Given the description of an element on the screen output the (x, y) to click on. 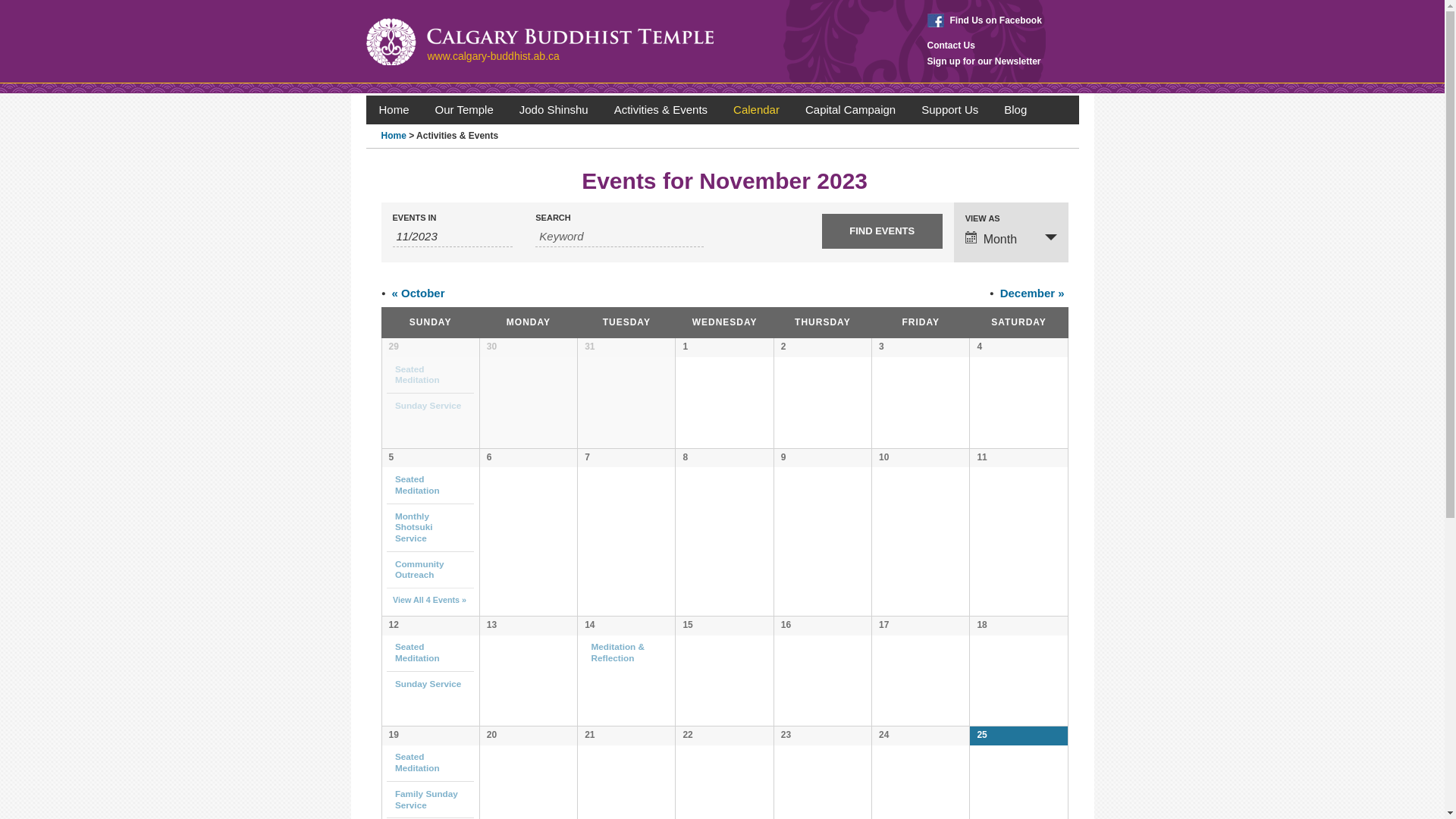
Seated Meditation Element type: text (417, 374)
5 Element type: text (390, 456)
Activities & Events Element type: text (660, 109)
Monthly Shotsuki Service Element type: text (414, 526)
Sign up for our Newsletter Element type: text (983, 61)
Home Element type: text (392, 135)
Calendar Element type: text (756, 109)
Meditation & Reflection Element type: text (618, 651)
14 Element type: text (589, 624)
Home Element type: text (394, 109)
12 Element type: text (393, 624)
Capital Campaign Element type: text (850, 109)
Seated Meditation Element type: text (417, 484)
Seated Meditation Element type: text (417, 651)
Sunday Service  Element type: text (429, 405)
Family Sunday Service Element type: text (426, 798)
29 Element type: text (393, 346)
Find Events Element type: text (882, 230)
Support Us Element type: text (949, 109)
Contact Us Element type: text (950, 45)
Seated Meditation Element type: text (417, 761)
Calgary Buddhist Temple Element type: text (538, 41)
Community Outreach Element type: text (419, 569)
Jodo Shinshu Element type: text (553, 109)
Blog Element type: text (1014, 109)
Sunday Service Element type: text (428, 683)
19 Element type: text (393, 734)
Our Temple Element type: text (464, 109)
Month Element type: text (1010, 238)
Find Us on Facebook Element type: text (983, 20)
